Given the description of an element on the screen output the (x, y) to click on. 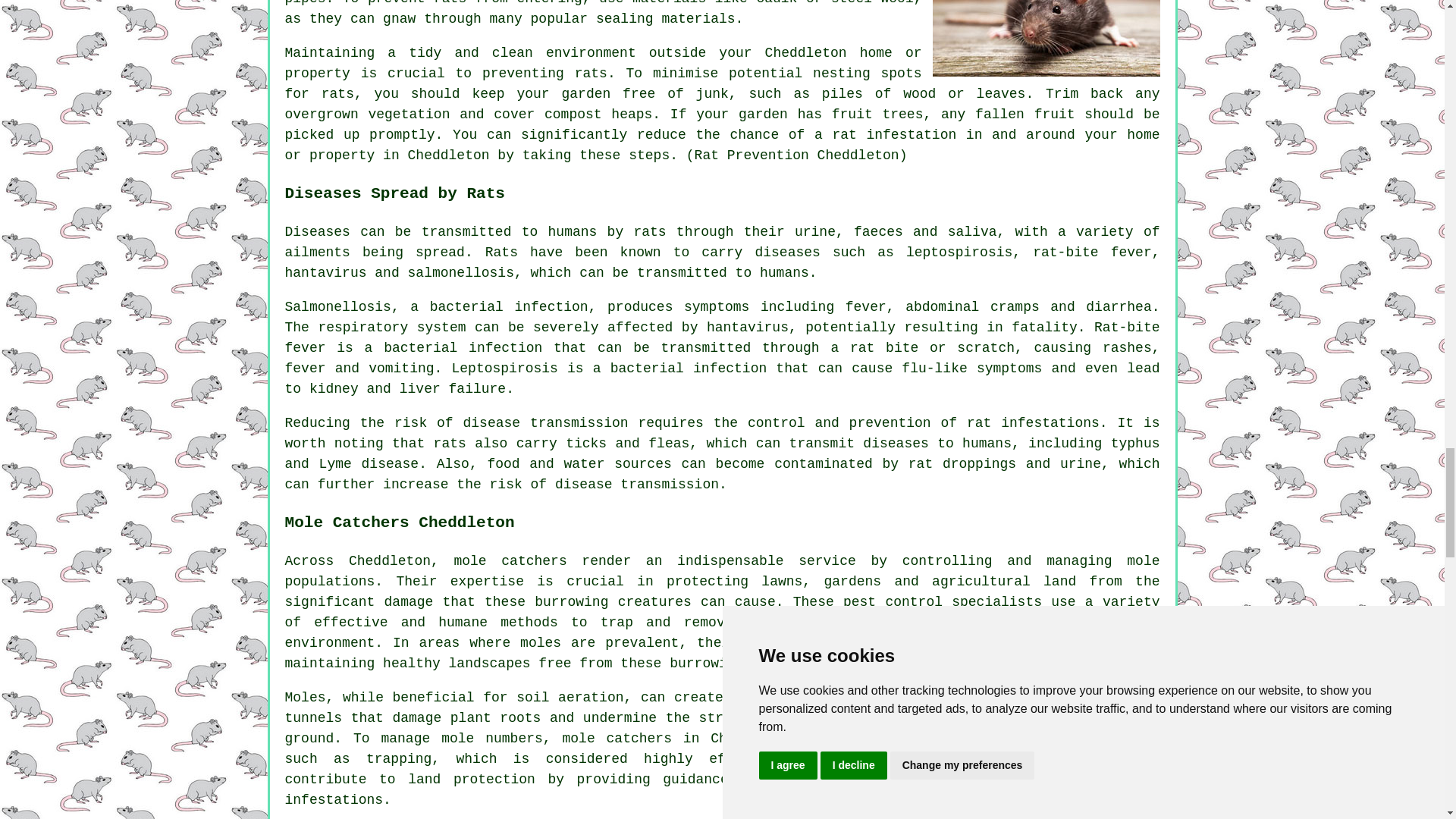
Rat Prevention Cheddleton (1046, 38)
mole cachers (509, 560)
Mole Catchers Cheddleton (1046, 753)
a rat infestation (884, 134)
rats (591, 73)
